Given the description of an element on the screen output the (x, y) to click on. 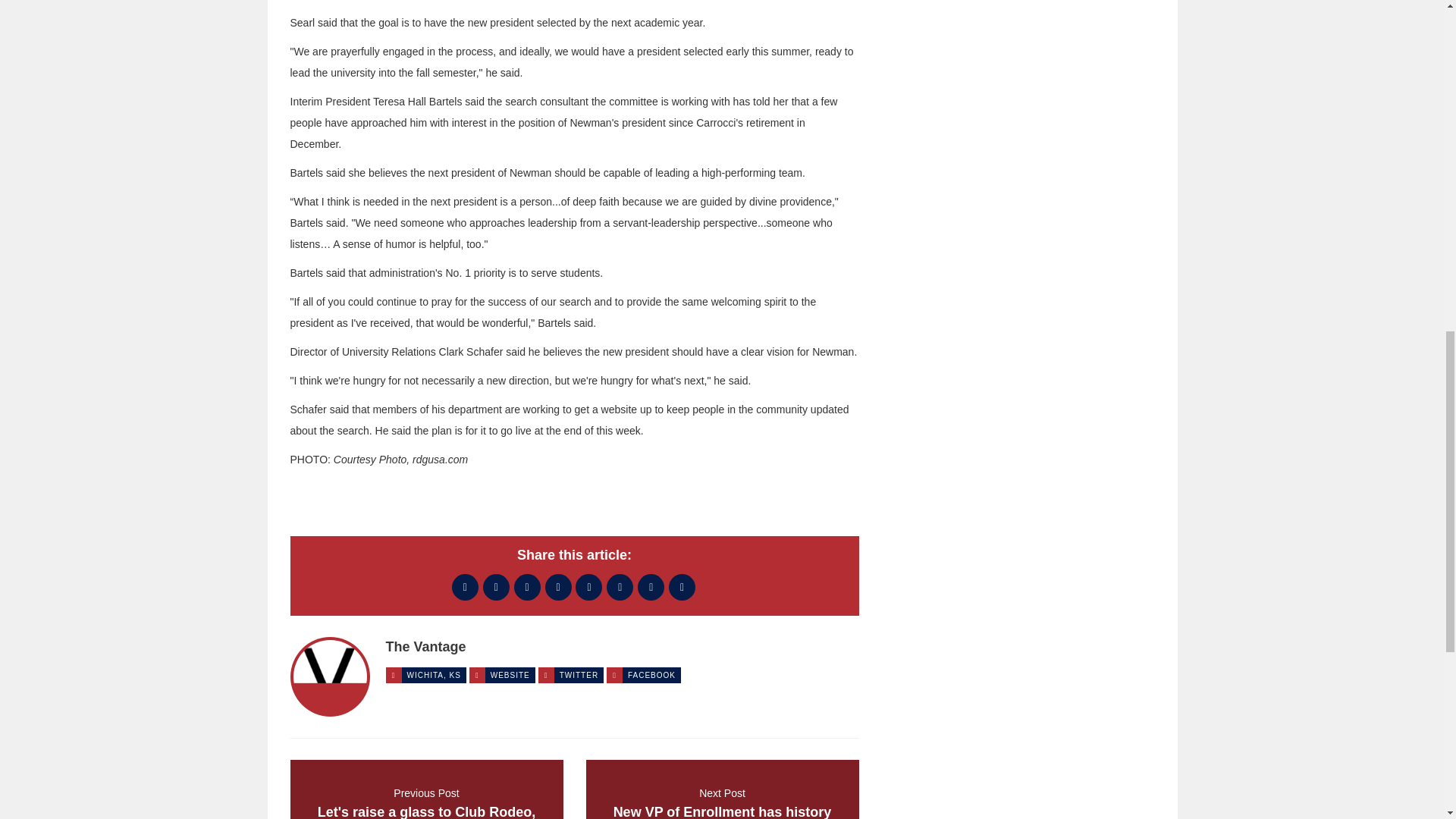
Pinterest (425, 789)
WEBSITE (650, 586)
Twitter (509, 674)
Digg (722, 789)
Facebook (496, 586)
StumbleUpon (558, 586)
FACEBOOK (465, 586)
TWITTER (681, 586)
